Given the description of an element on the screen output the (x, y) to click on. 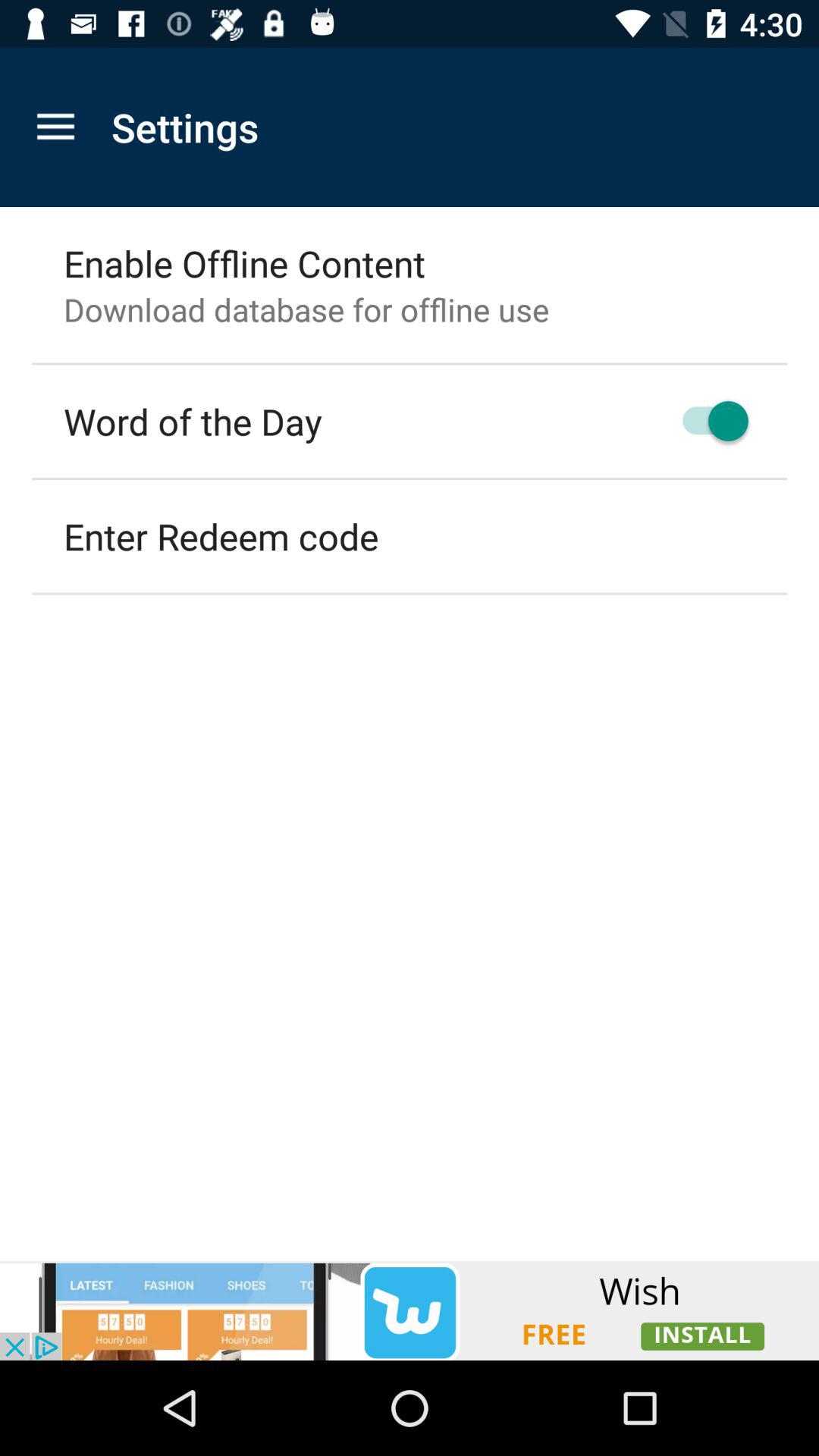
advertisement display (409, 1310)
